Given the description of an element on the screen output the (x, y) to click on. 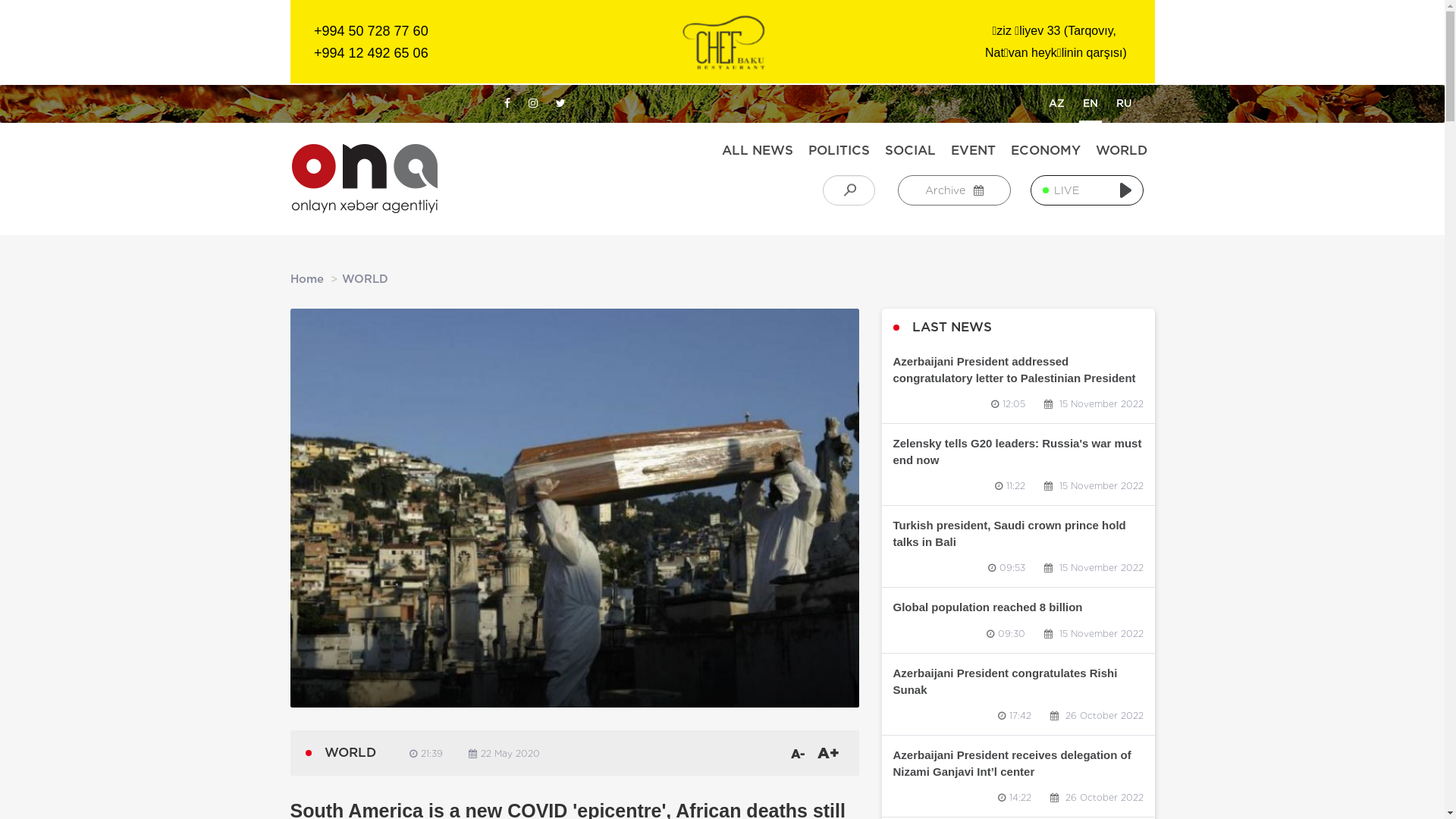
POLITICS Element type: text (838, 150)
A- Element type: text (797, 754)
LIVE Element type: text (1086, 190)
WORLD Element type: text (364, 278)
AZ Element type: text (1056, 104)
RU Element type: text (1123, 104)
Archive Element type: text (953, 190)
EN Element type: text (1089, 104)
WORLD Element type: text (1120, 150)
Archive Element type: text (953, 190)
ALL NEWS Element type: text (757, 150)
ECONOMY Element type: text (1044, 150)
SOCIAL Element type: text (909, 150)
A+ Element type: text (828, 753)
Home Element type: text (306, 278)
EVENT Element type: text (973, 150)
Global population reached 8 billion
09:30 15 November 2022 Element type: text (1018, 620)
